Given the description of an element on the screen output the (x, y) to click on. 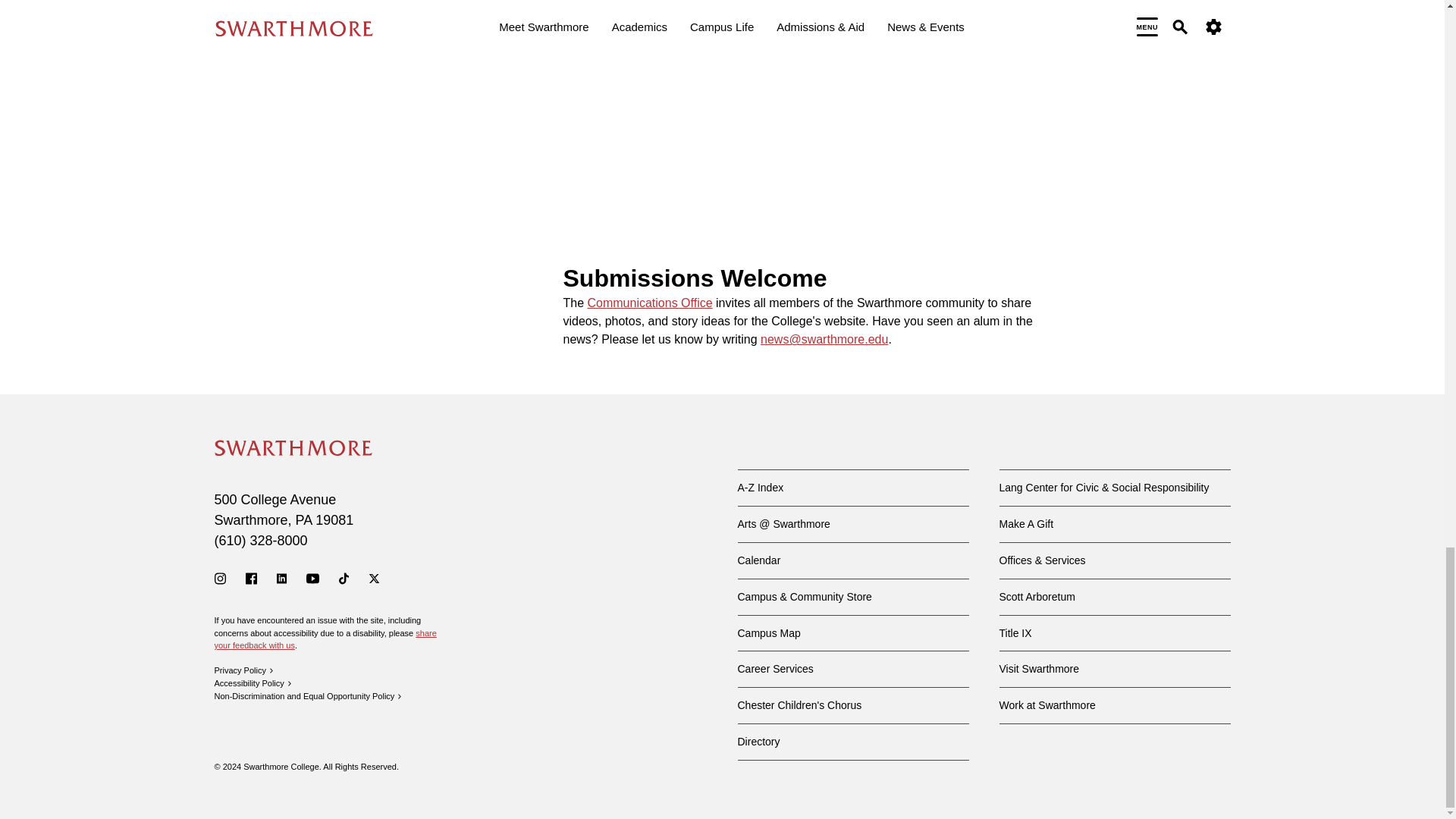
Swarthmore College - Home (292, 447)
Facebook (251, 578)
Instagram (219, 578)
YouTube (311, 578)
